Given the description of an element on the screen output the (x, y) to click on. 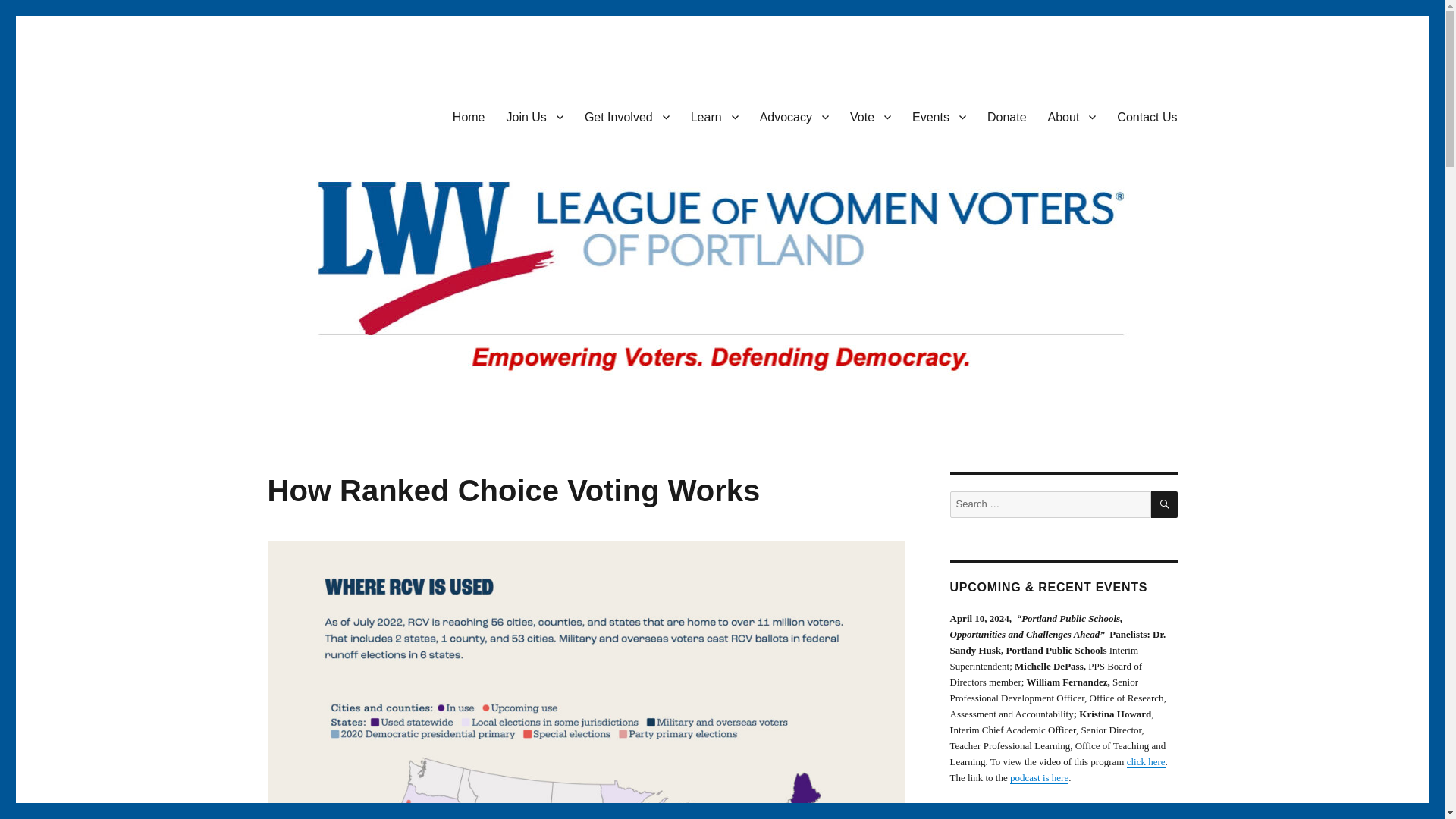
Learn (714, 116)
Events (938, 116)
Get Involved (626, 116)
Advocacy (794, 116)
Home (469, 116)
Vote (870, 116)
Join Us (534, 116)
League of Women Voters of Portland (451, 114)
